Given the description of an element on the screen output the (x, y) to click on. 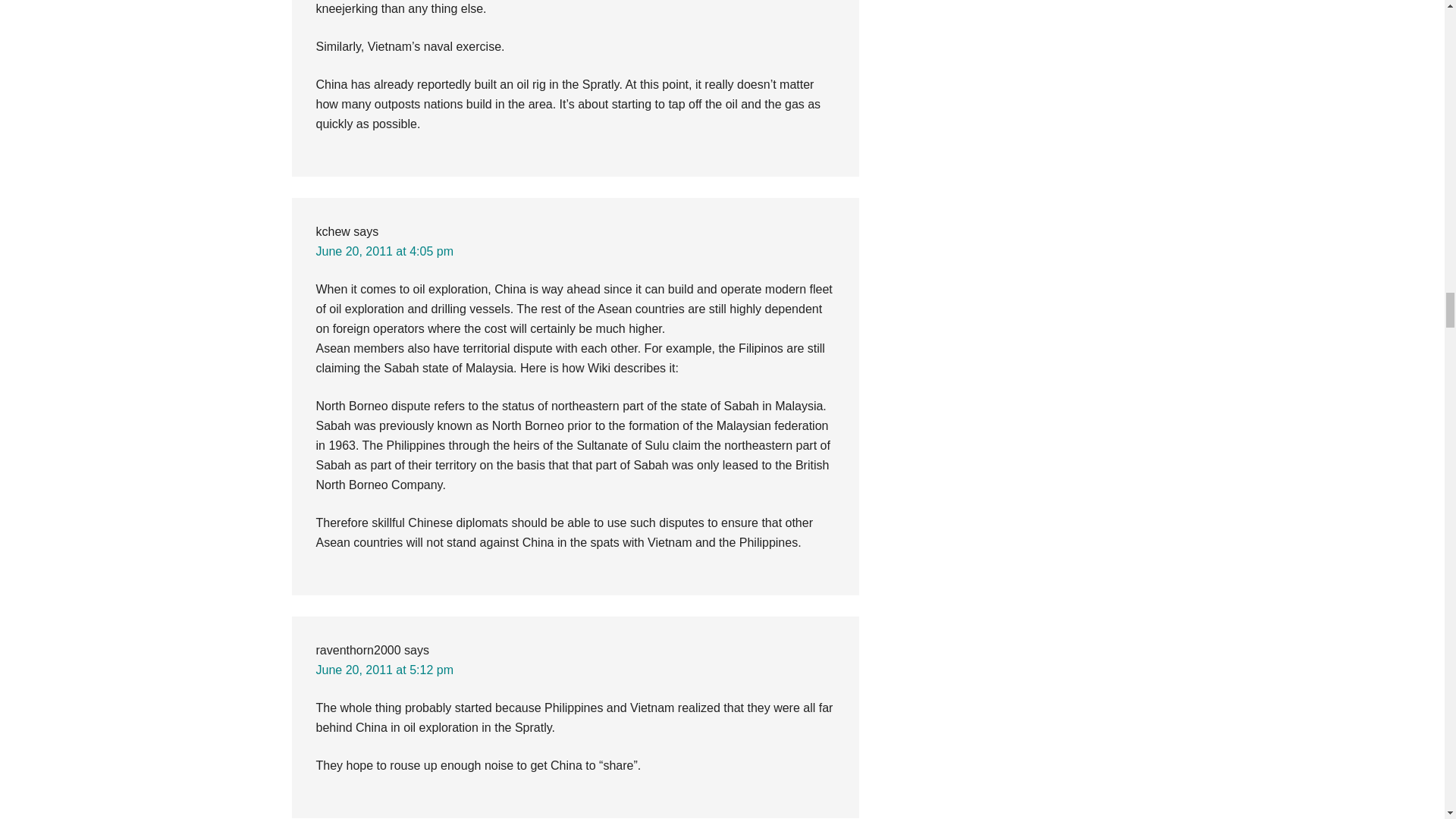
June 20, 2011 at 4:05 pm (383, 250)
